Given the description of an element on the screen output the (x, y) to click on. 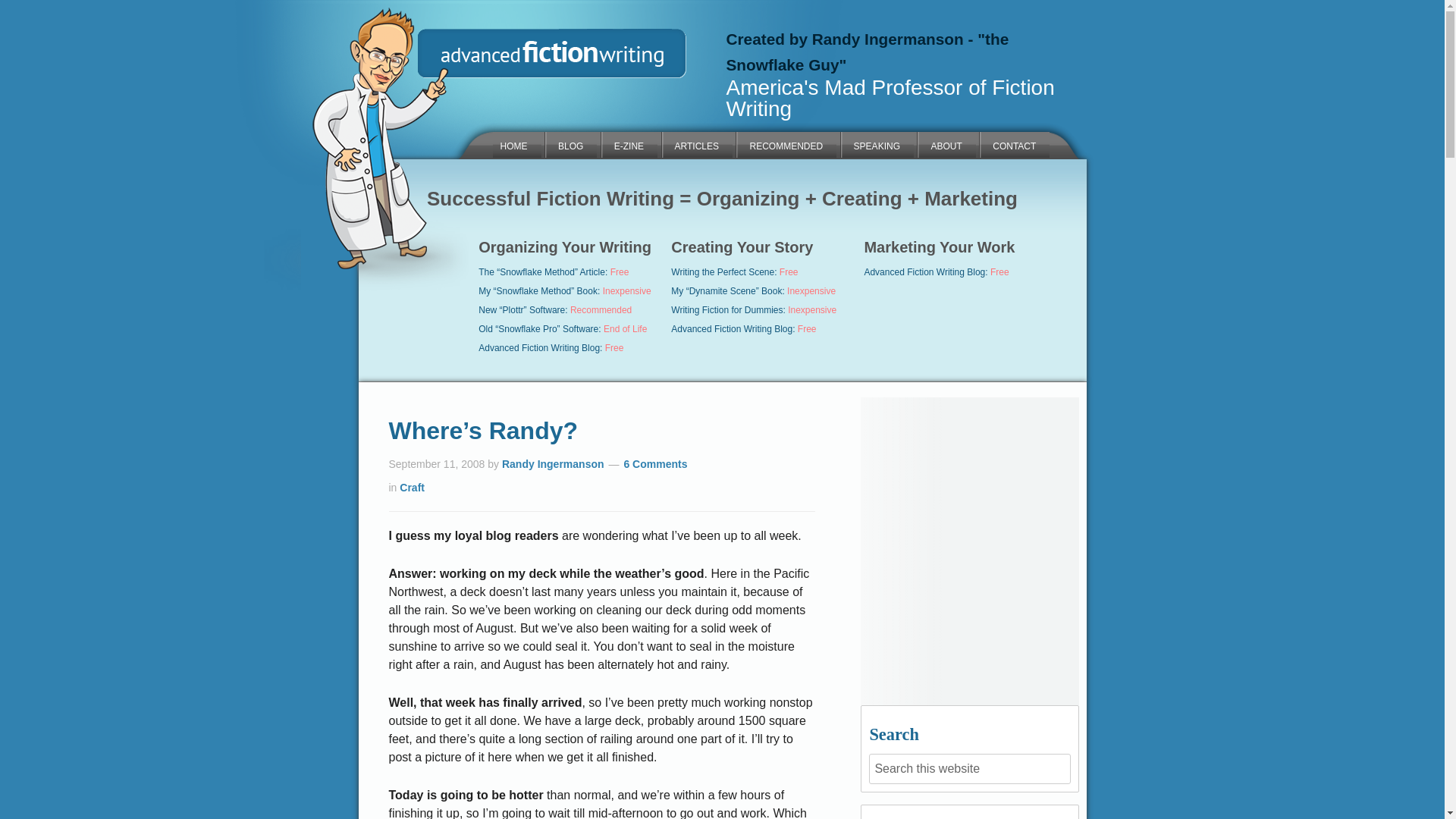
RECOMMENDED (785, 144)
CONTACT (1013, 144)
SPEAKING (877, 144)
Advanced Fiction Writing Blog: Free (551, 347)
ABOUT (946, 144)
BLOG (570, 144)
ARTICLES (696, 144)
E-ZINE (628, 144)
